Given the description of an element on the screen output the (x, y) to click on. 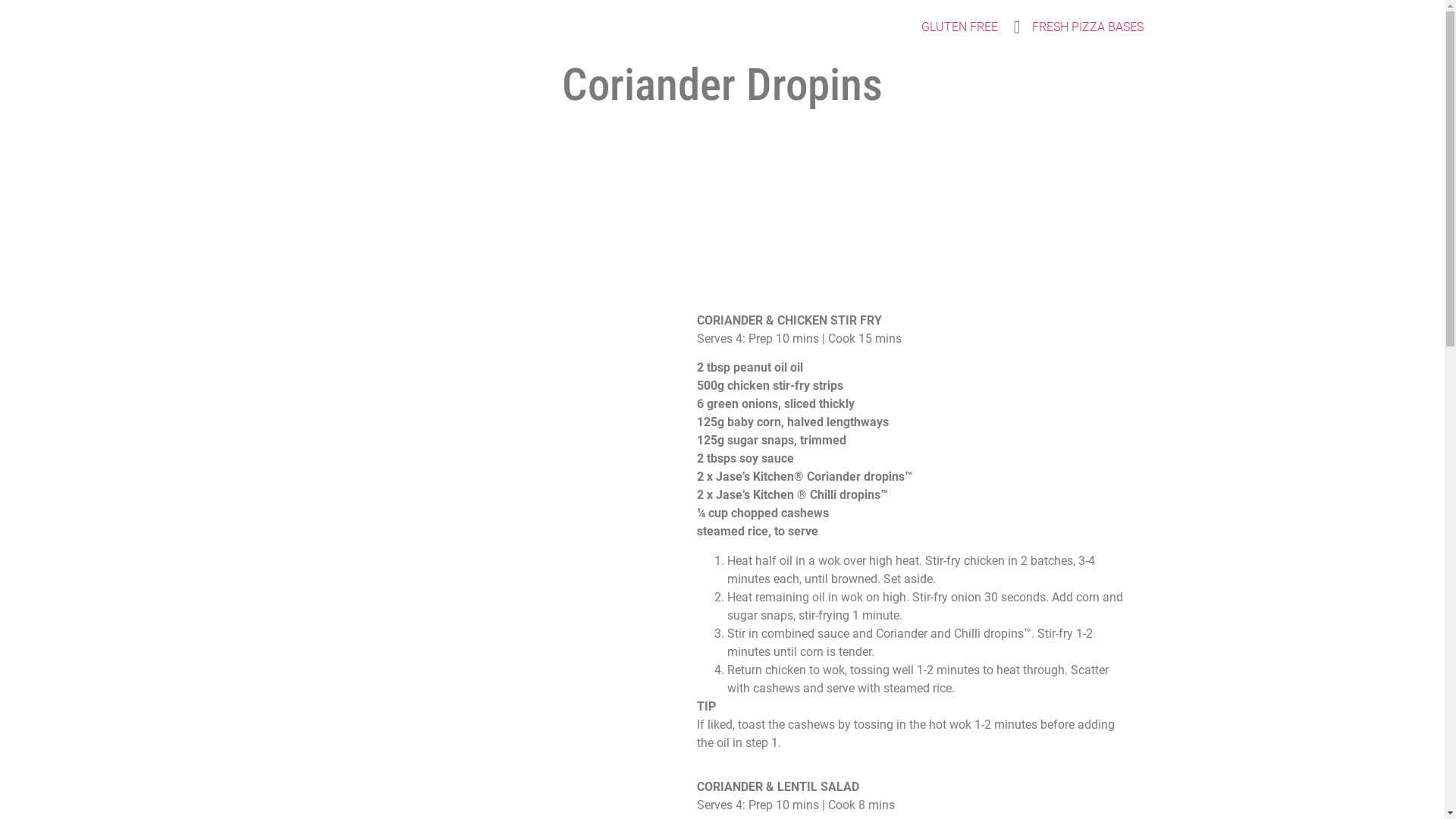
GLUTEN FREE Element type: text (959, 27)
FRESH PIZZA BASES Element type: text (1087, 27)
